Given the description of an element on the screen output the (x, y) to click on. 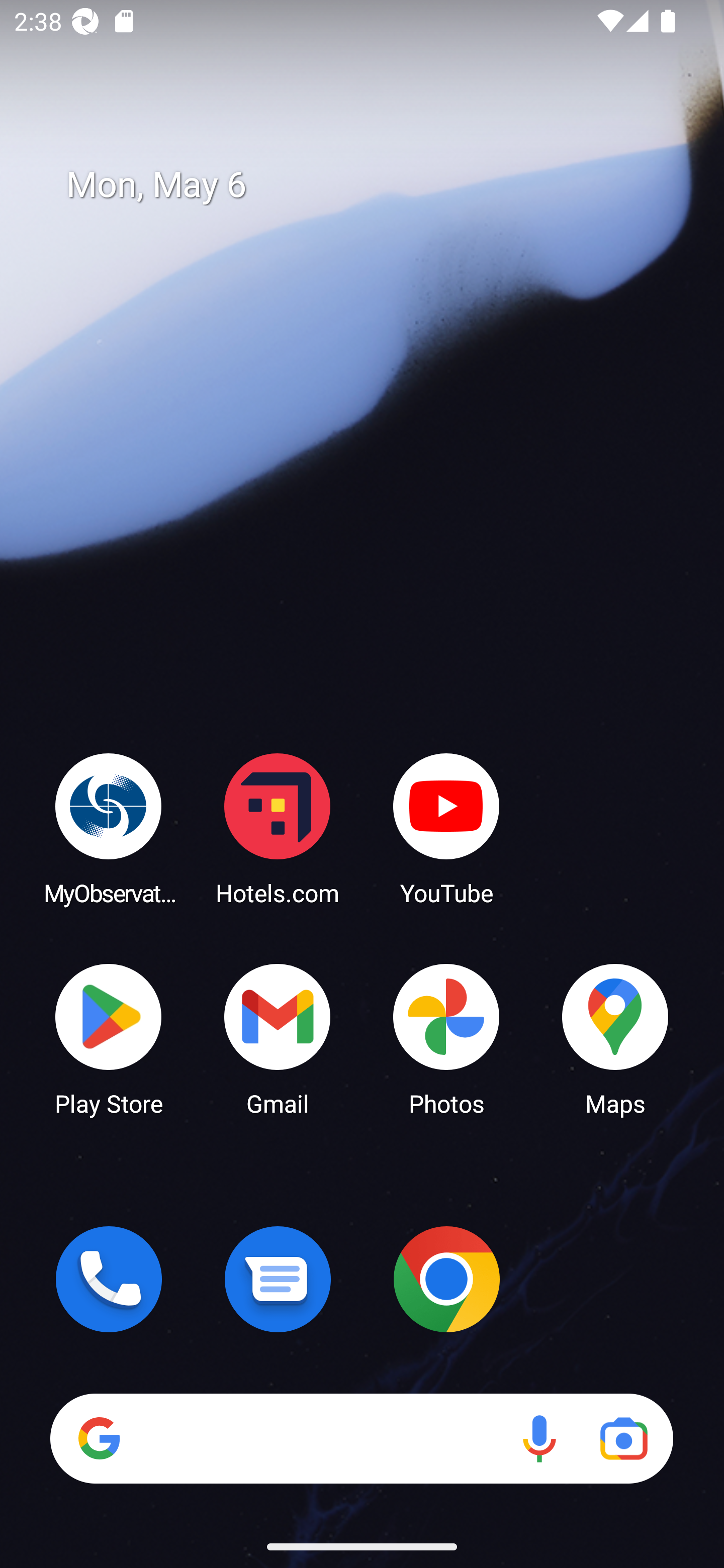
Mon, May 6 (375, 184)
MyObservatory (108, 828)
Hotels.com (277, 828)
YouTube (445, 828)
Play Store (108, 1038)
Gmail (277, 1038)
Photos (445, 1038)
Maps (615, 1038)
Phone (108, 1279)
Messages (277, 1279)
Chrome (446, 1279)
Search Voice search Google Lens (361, 1438)
Voice search (539, 1438)
Google Lens (623, 1438)
